Given the description of an element on the screen output the (x, y) to click on. 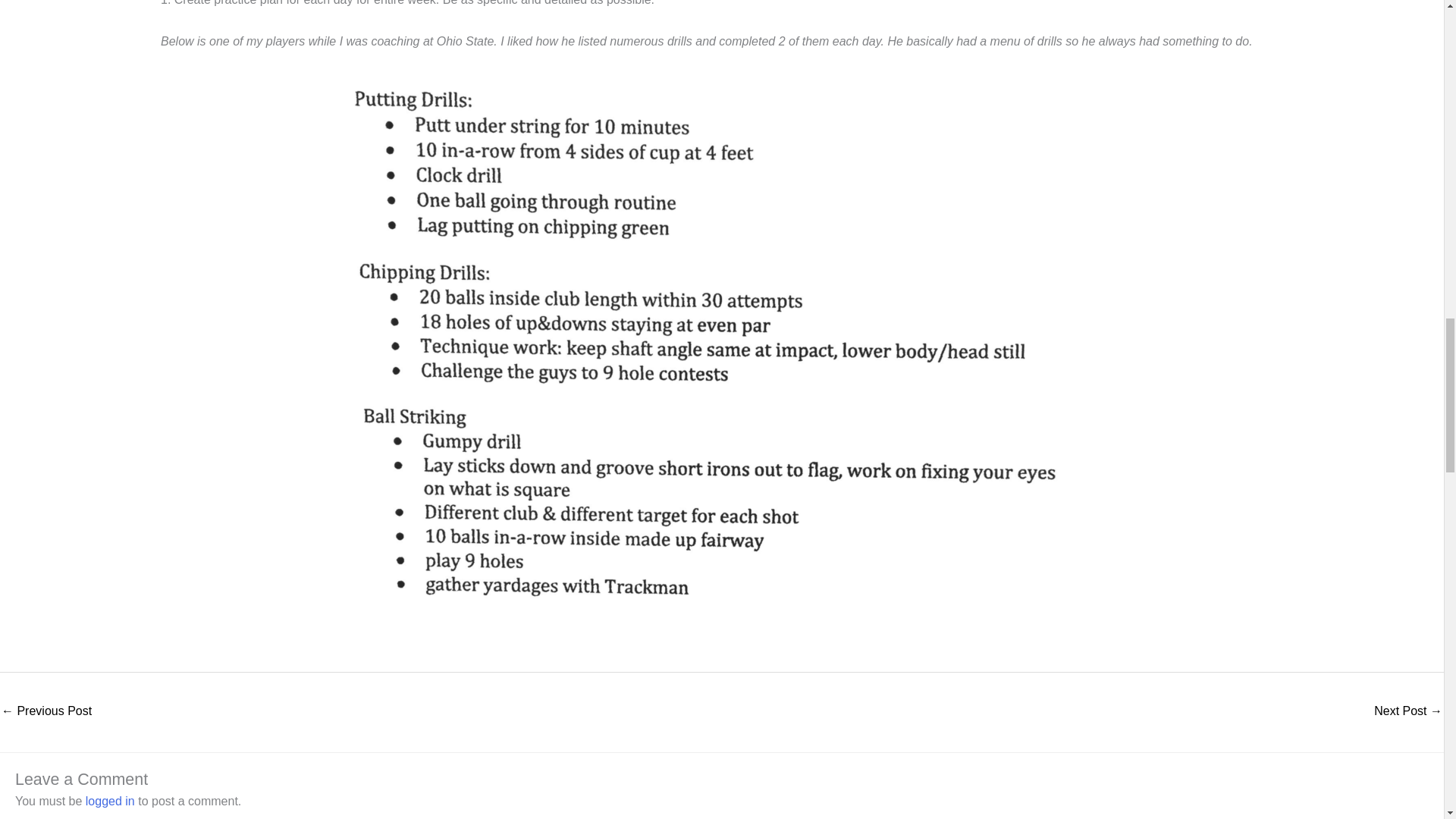
Practice Golf Controllables (46, 712)
Step 7 to a College Golf Scholarship (1408, 712)
logged in (110, 800)
